Given the description of an element on the screen output the (x, y) to click on. 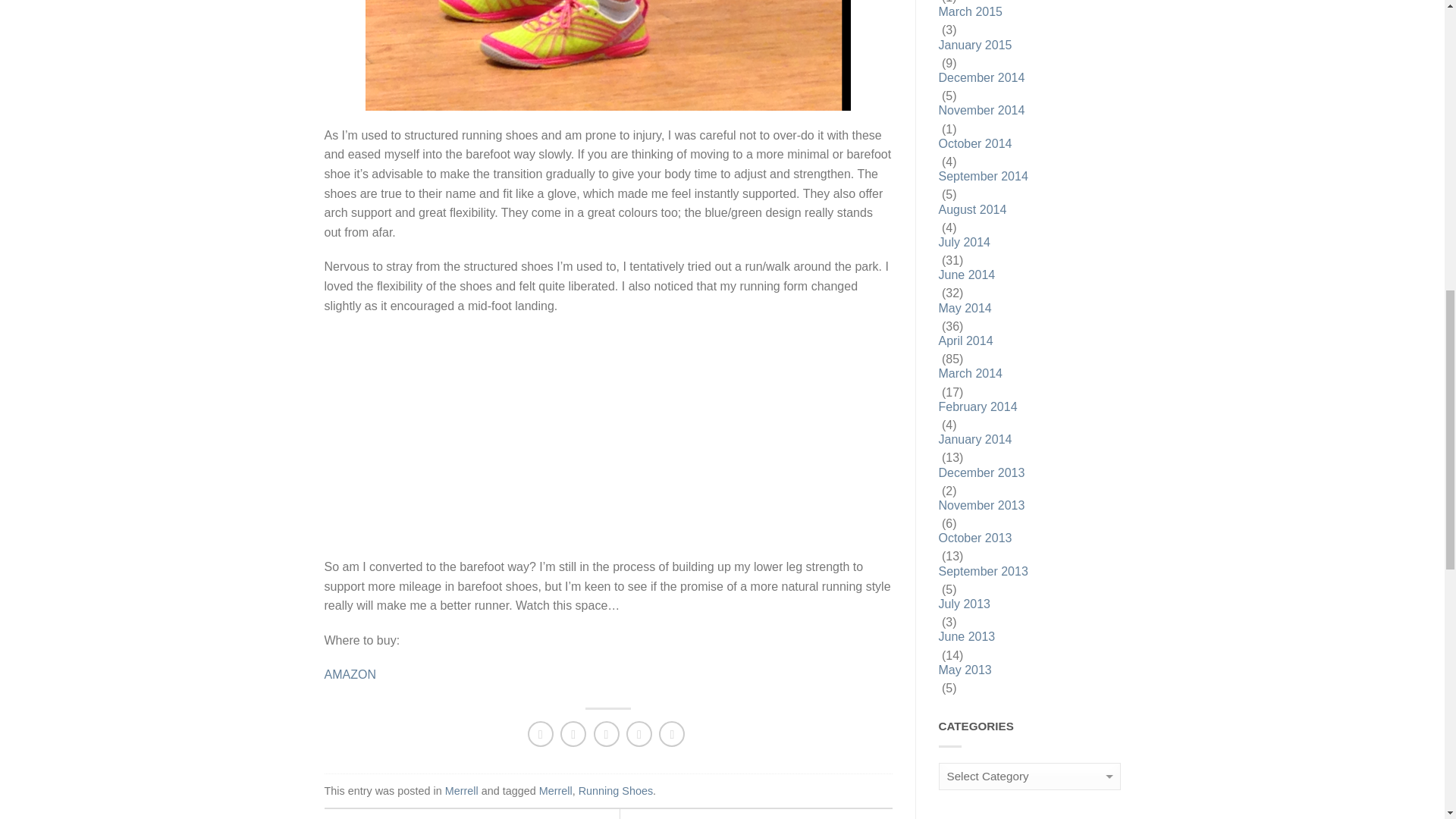
AMAZON (349, 674)
Advertisement (451, 449)
